Given the description of an element on the screen output the (x, y) to click on. 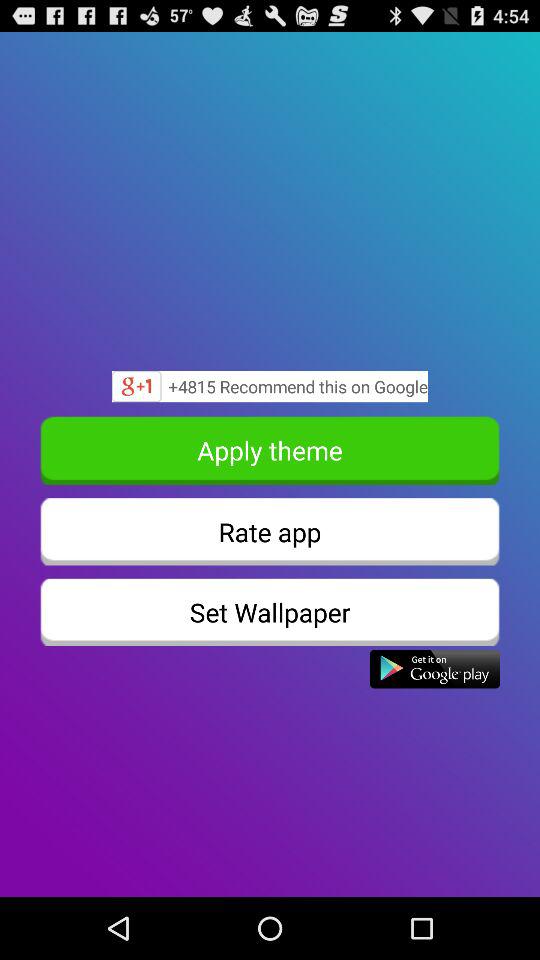
scroll to apply theme icon (269, 450)
